Given the description of an element on the screen output the (x, y) to click on. 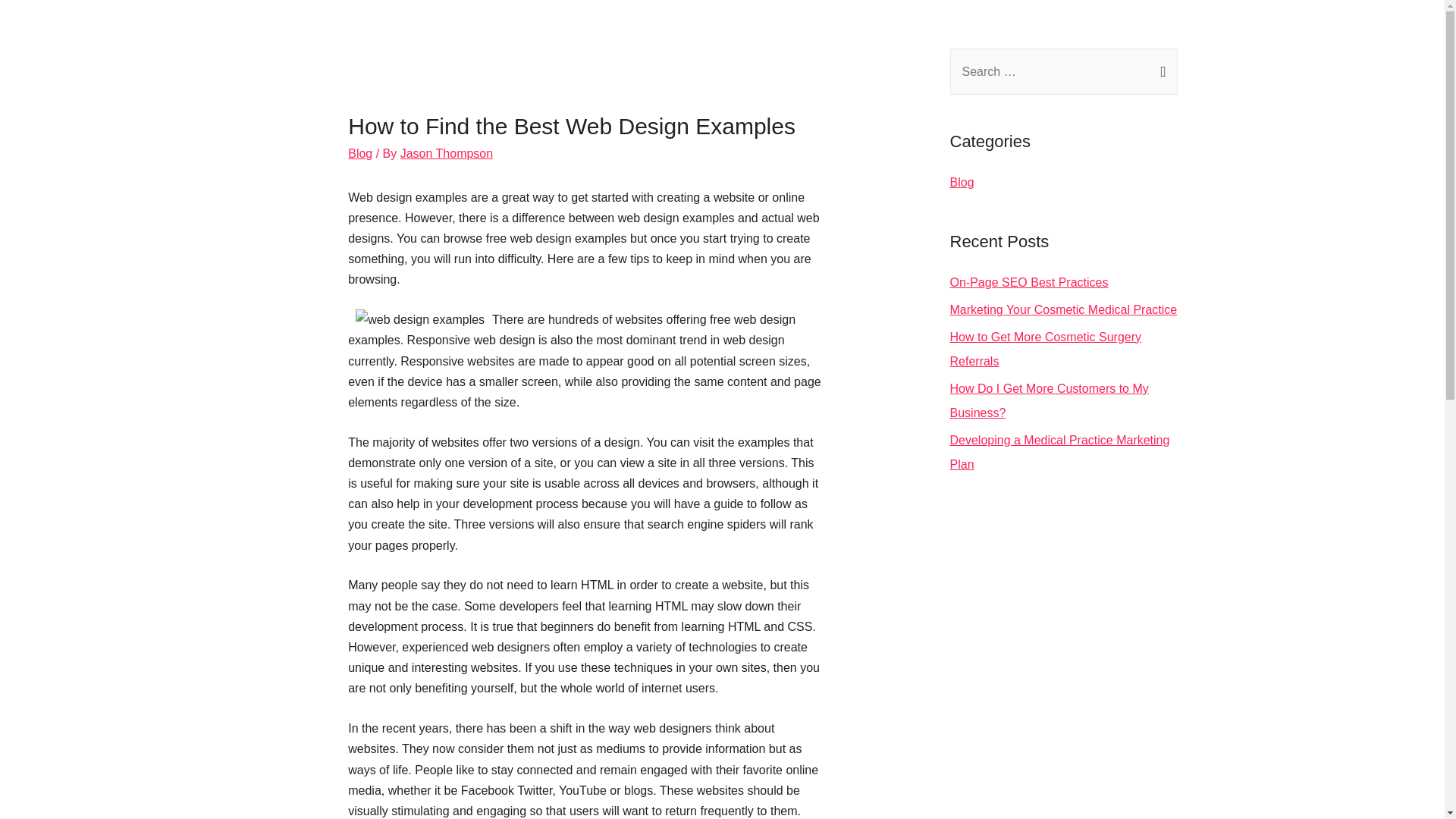
On-Page SEO Best Practices (1028, 282)
Jason Thompson (446, 153)
Blog (359, 153)
Developing a Medical Practice Marketing Plan (1059, 452)
Search (1159, 64)
How Do I Get More Customers to My Business? (1048, 400)
Blog (961, 182)
View all posts by Jason Thompson (446, 153)
Search (1159, 64)
Search (1159, 64)
How to Get More Cosmetic Surgery Referrals (1045, 348)
Marketing Your Cosmetic Medical Practice (1062, 309)
